Given the description of an element on the screen output the (x, y) to click on. 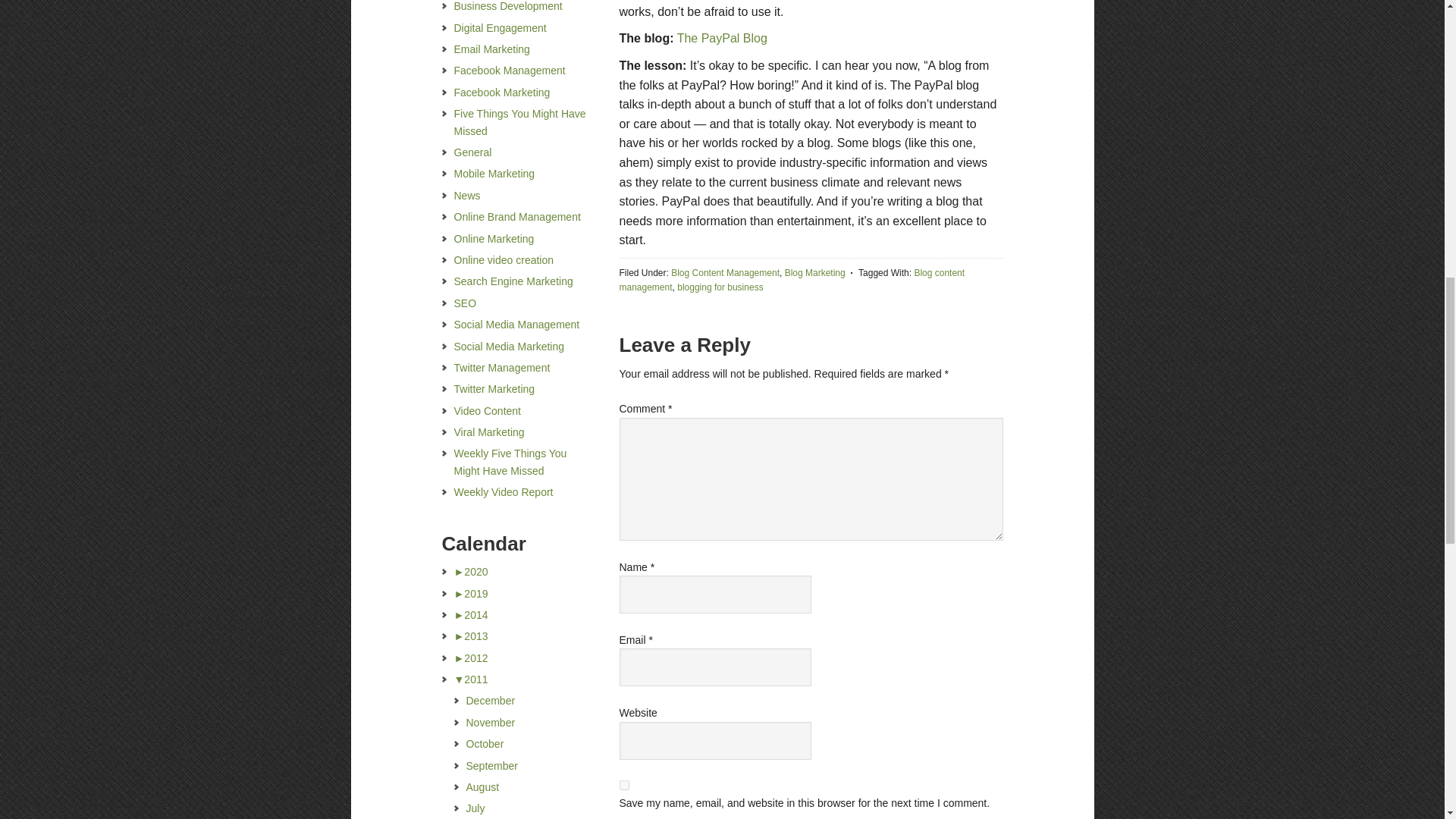
Blog Content Management (724, 272)
Email Marketing (490, 49)
The PayPal Blog (722, 38)
blogging for business (719, 286)
Blog Marketing (814, 272)
Blog content management (790, 279)
yes (623, 785)
2020 (469, 571)
Business Development (507, 6)
2014 (469, 614)
